Given the description of an element on the screen output the (x, y) to click on. 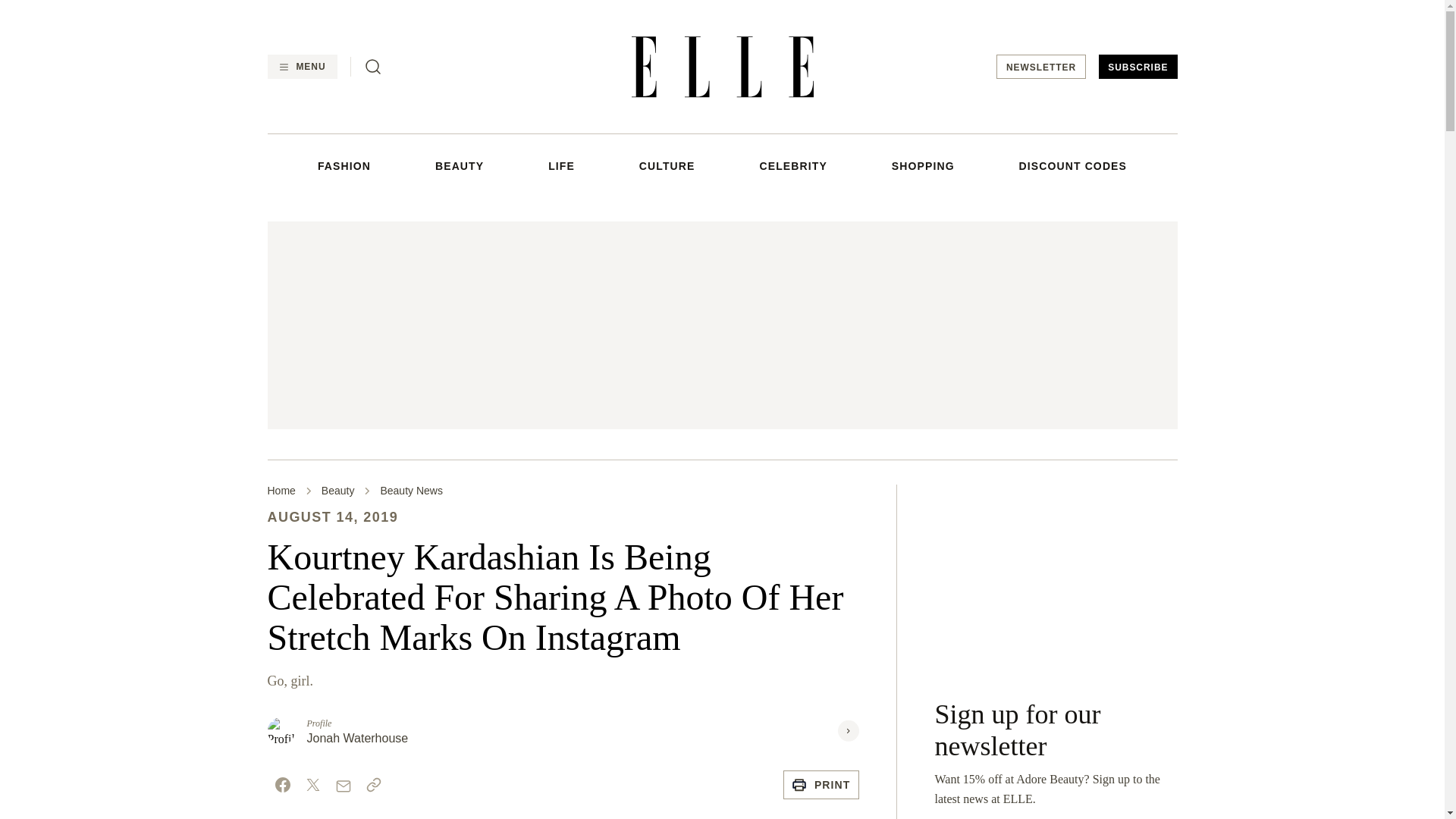
SUBSCRIBE (1137, 66)
NEWSLETTER (1040, 66)
BEAUTY (459, 165)
CULTURE (667, 165)
LIFE (561, 165)
FASHION (344, 165)
DISCOUNT CODES (1072, 165)
SHOPPING (923, 165)
MENU (301, 66)
CELEBRITY (792, 165)
